Given the description of an element on the screen output the (x, y) to click on. 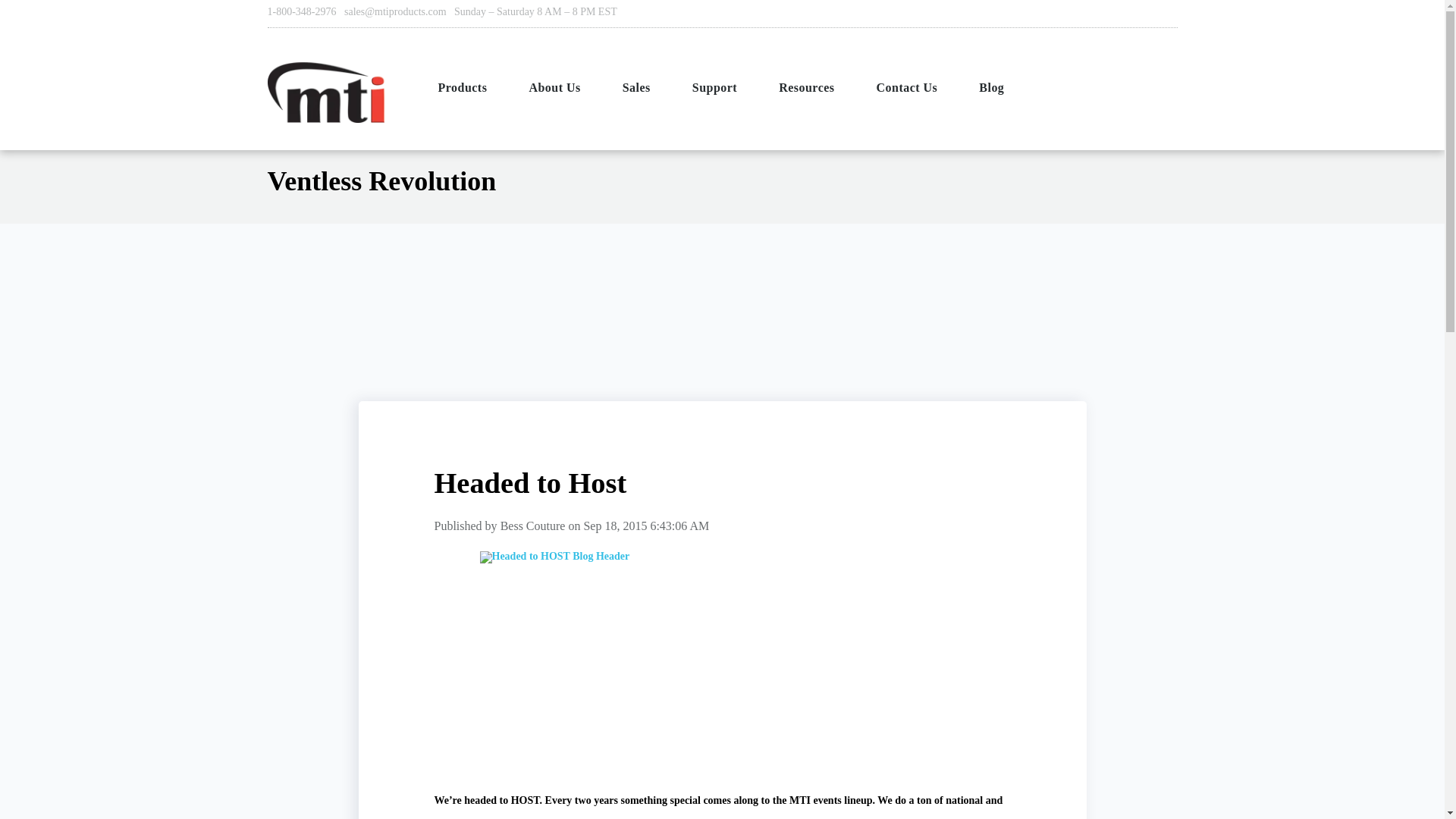
Support (716, 88)
Sales (638, 88)
mti (325, 92)
About Us (555, 88)
Products (464, 88)
Contact Us (908, 88)
Resources (808, 88)
